Given the description of an element on the screen output the (x, y) to click on. 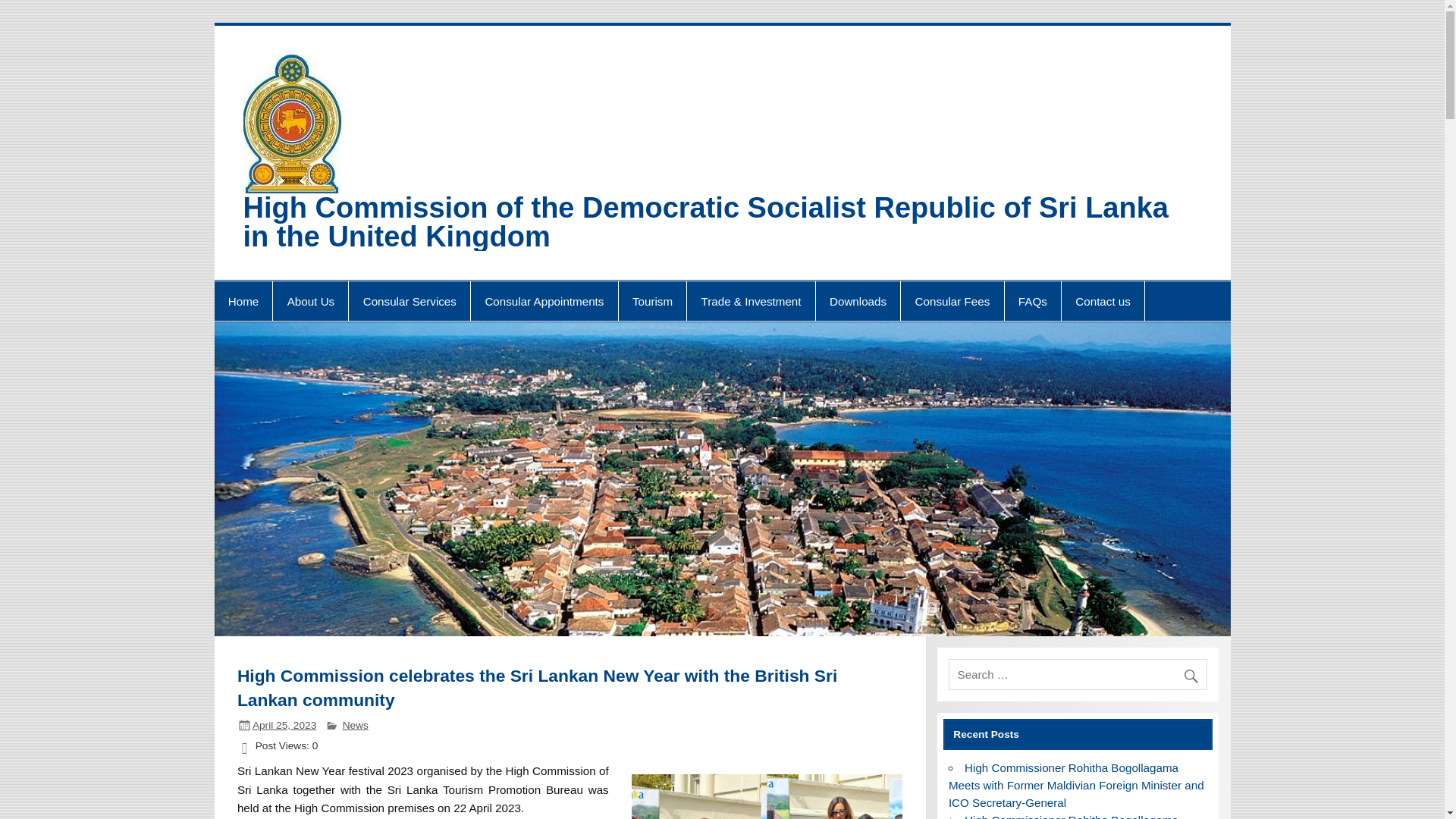
Consular Services (409, 301)
Home (243, 301)
Tourism (652, 301)
7:27 pm (283, 725)
Consular Appointments (543, 301)
About Us (310, 301)
